Given the description of an element on the screen output the (x, y) to click on. 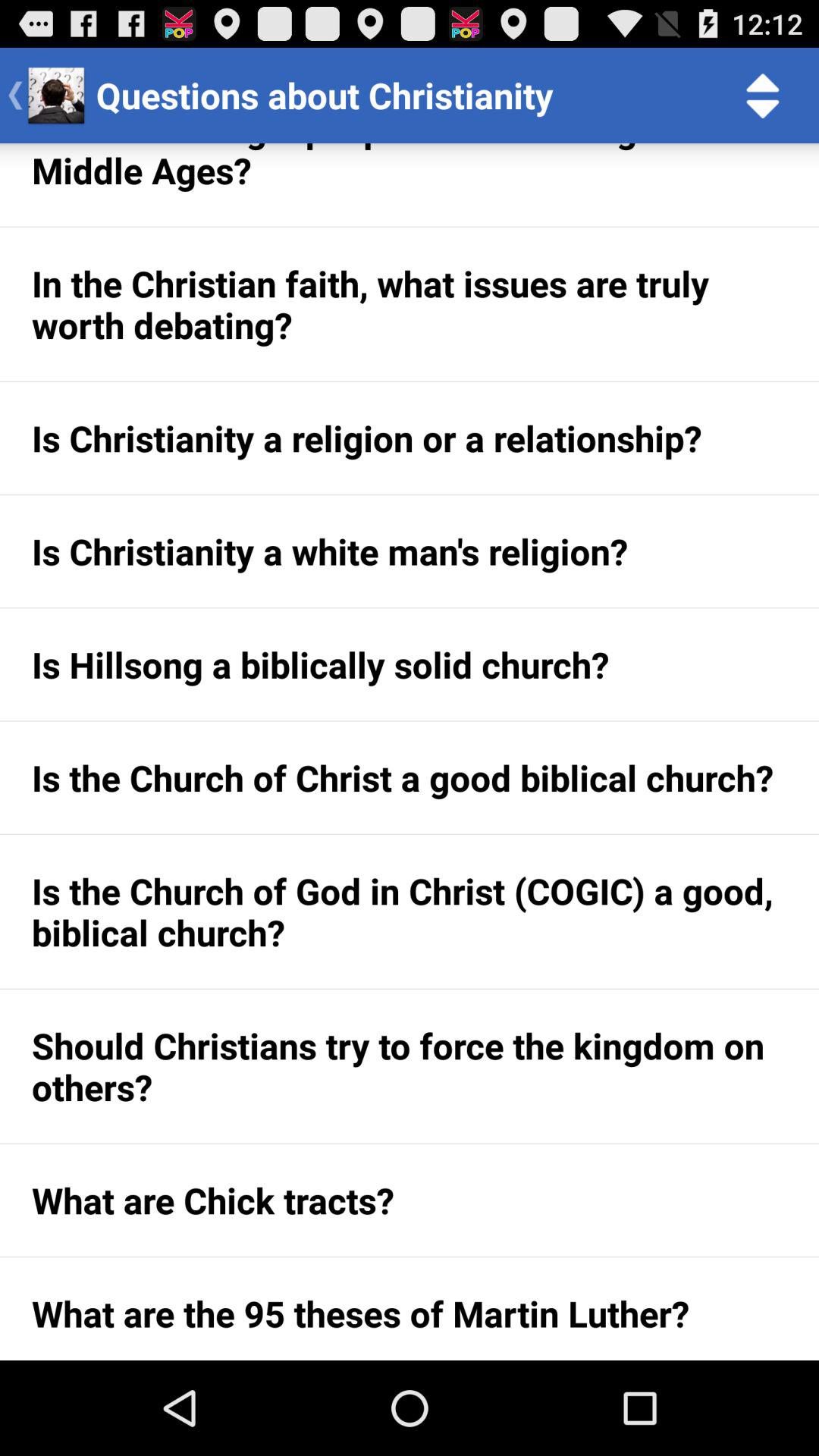
flip to the is hillsong a icon (409, 664)
